Given the description of an element on the screen output the (x, y) to click on. 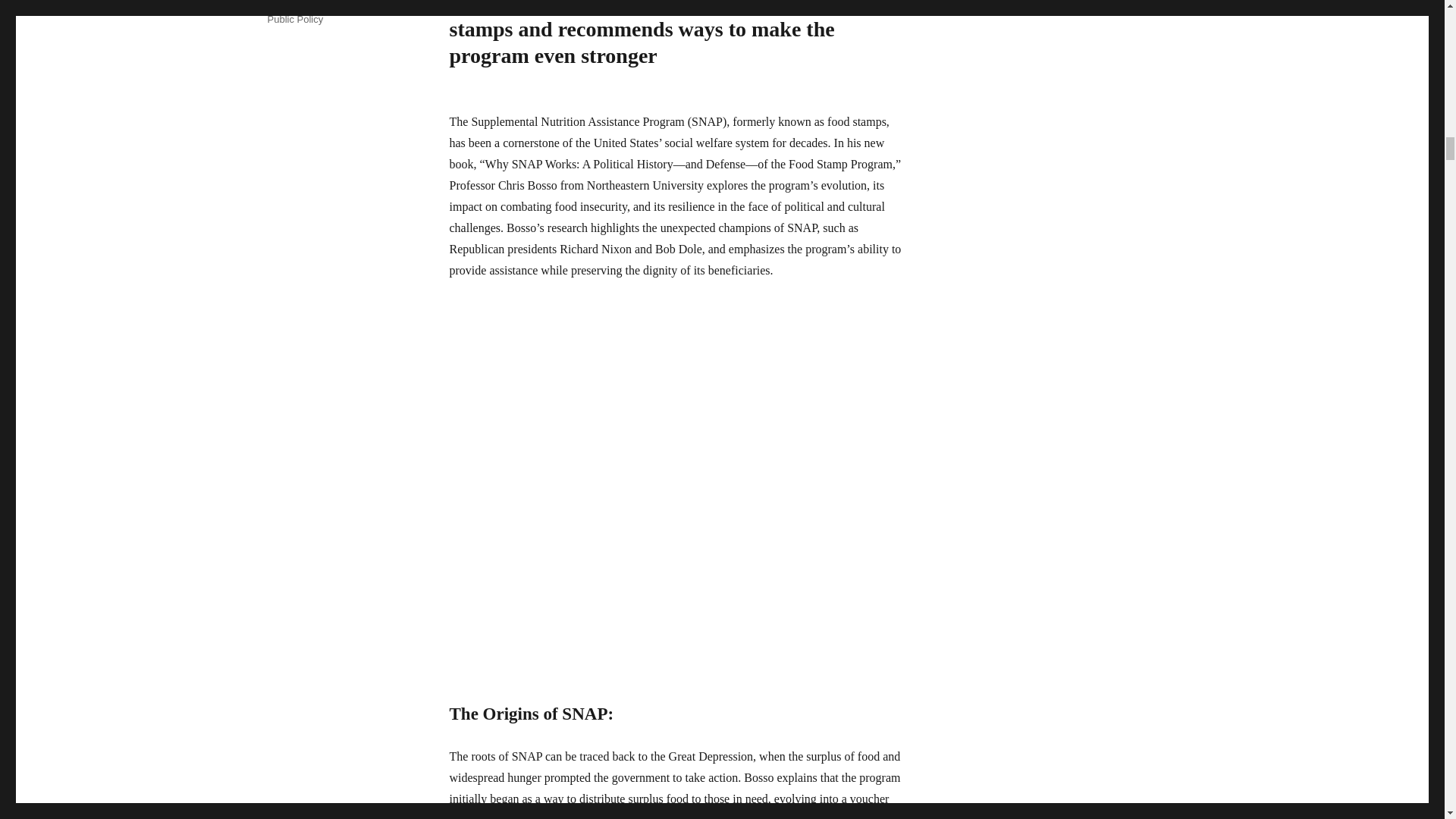
November 21, 2023 (309, 2)
Public Policy (294, 19)
